Given the description of an element on the screen output the (x, y) to click on. 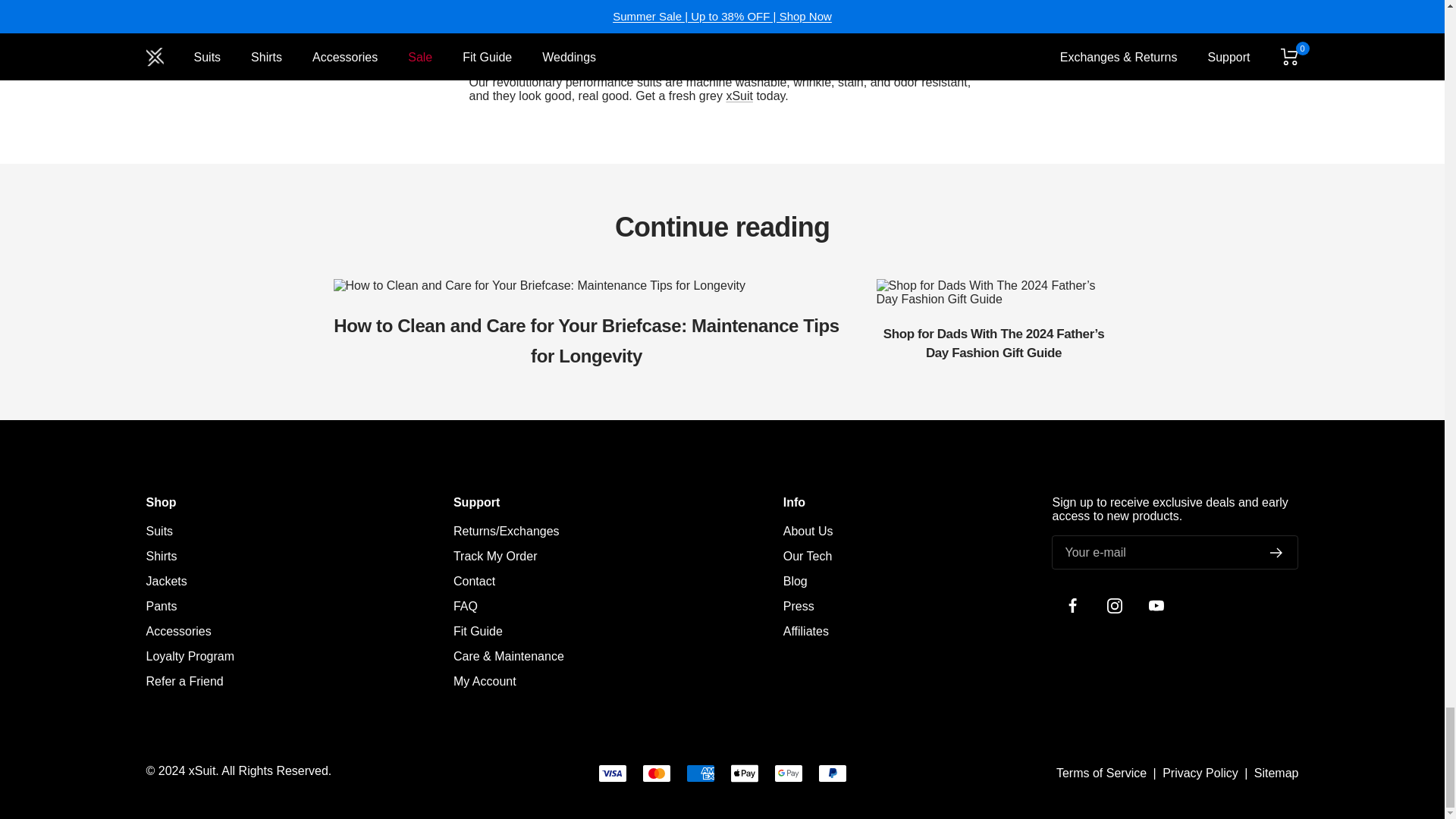
Register (1275, 552)
